Given the description of an element on the screen output the (x, y) to click on. 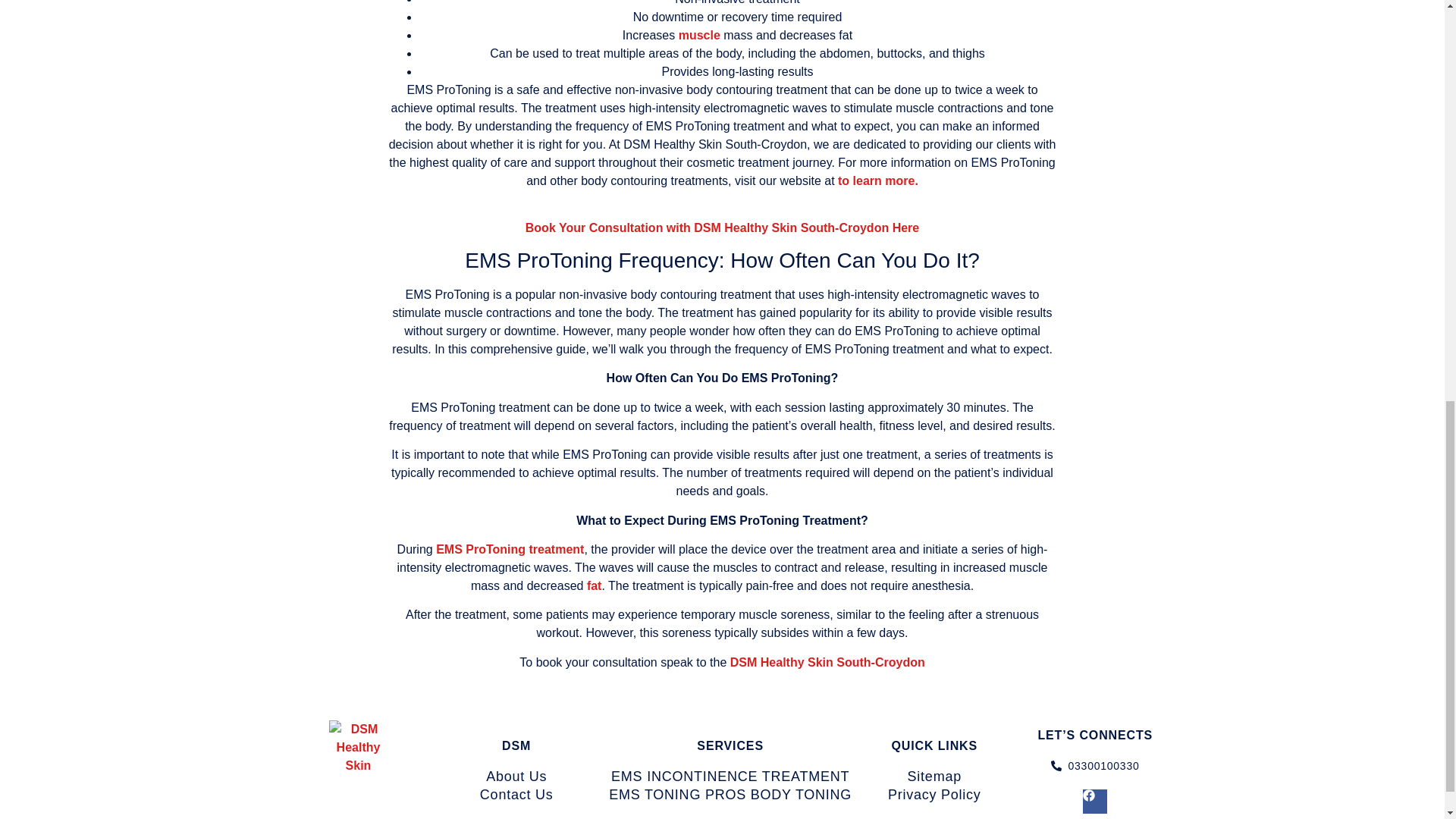
About Us (516, 776)
EMS ProToning treatment (509, 549)
fat (594, 585)
to learn more. (878, 180)
Sitemap (933, 776)
muscle (699, 34)
EMS TONING PROS BODY TONING (730, 794)
03300100330 (1094, 765)
muscle (699, 34)
EMS INCONTINENCE TREATMENT (730, 776)
fat (594, 585)
DSM Healthy Skin South-Croydon (827, 662)
Contact Us (516, 794)
Privacy Policy (933, 794)
